Given the description of an element on the screen output the (x, y) to click on. 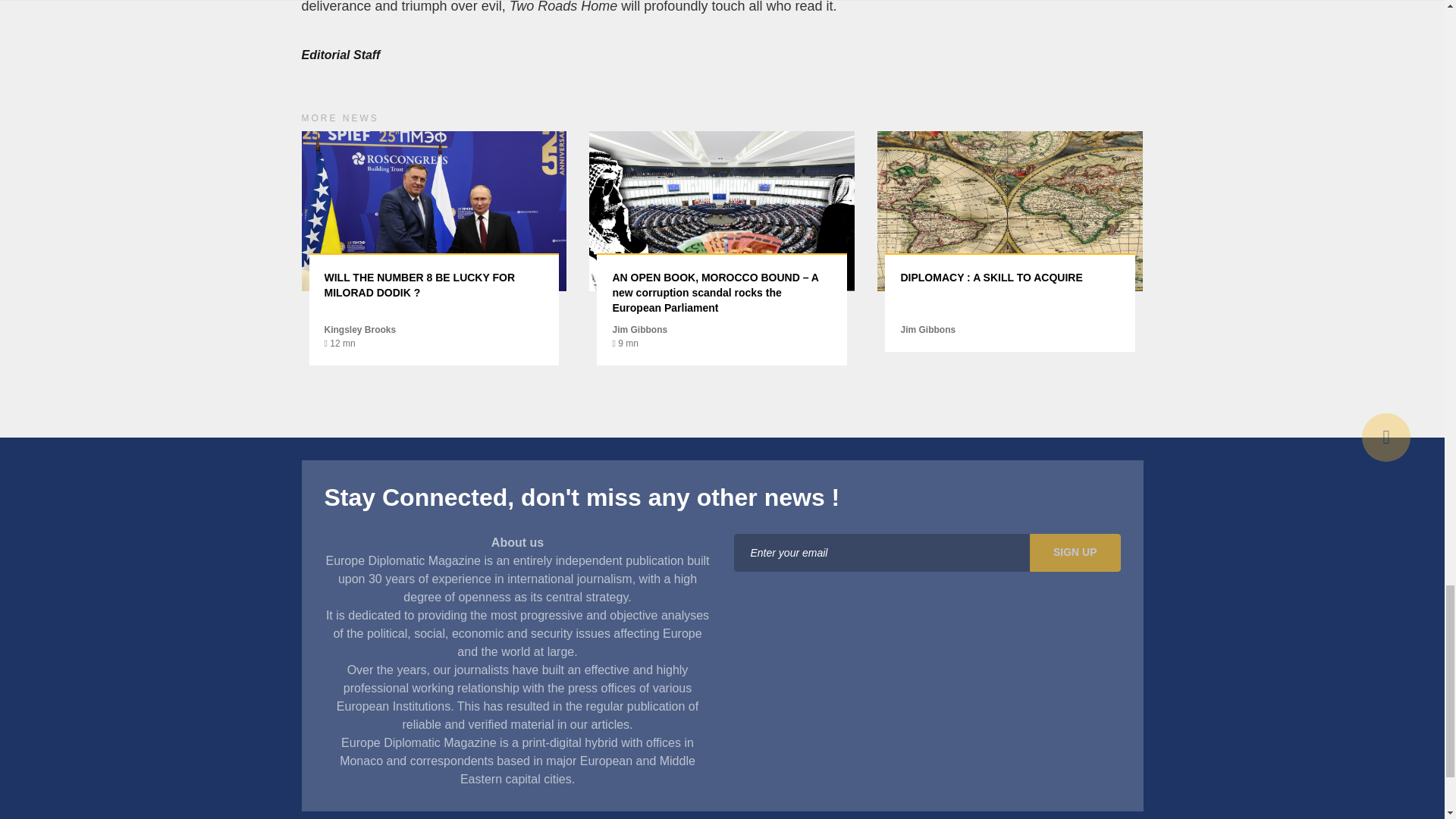
SIGN UP (1075, 552)
